Given the description of an element on the screen output the (x, y) to click on. 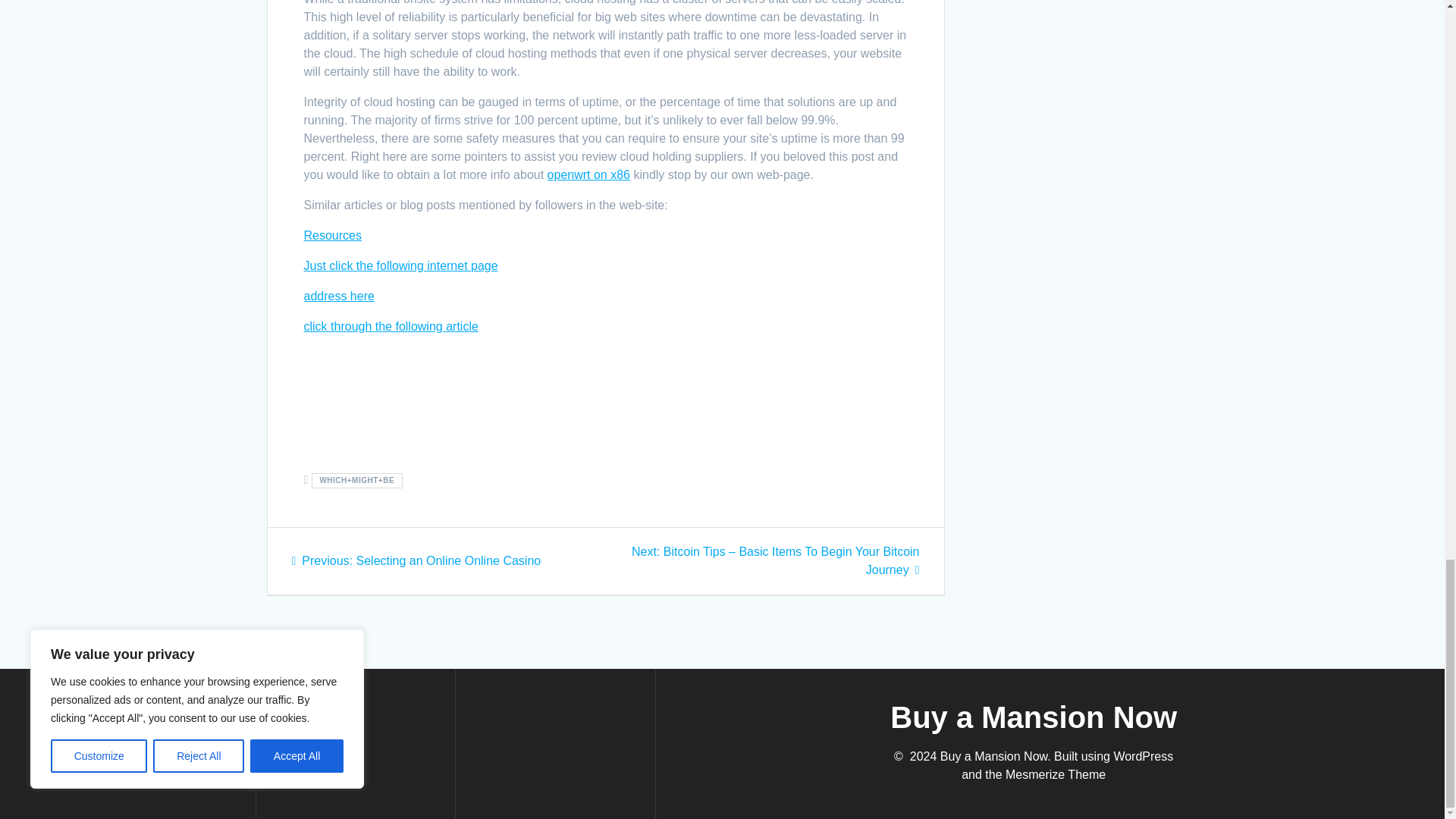
Resources (331, 235)
openwrt on x86 (588, 174)
address here (338, 295)
click through the following article (389, 326)
Just click the following internet page (399, 265)
